Given the description of an element on the screen output the (x, y) to click on. 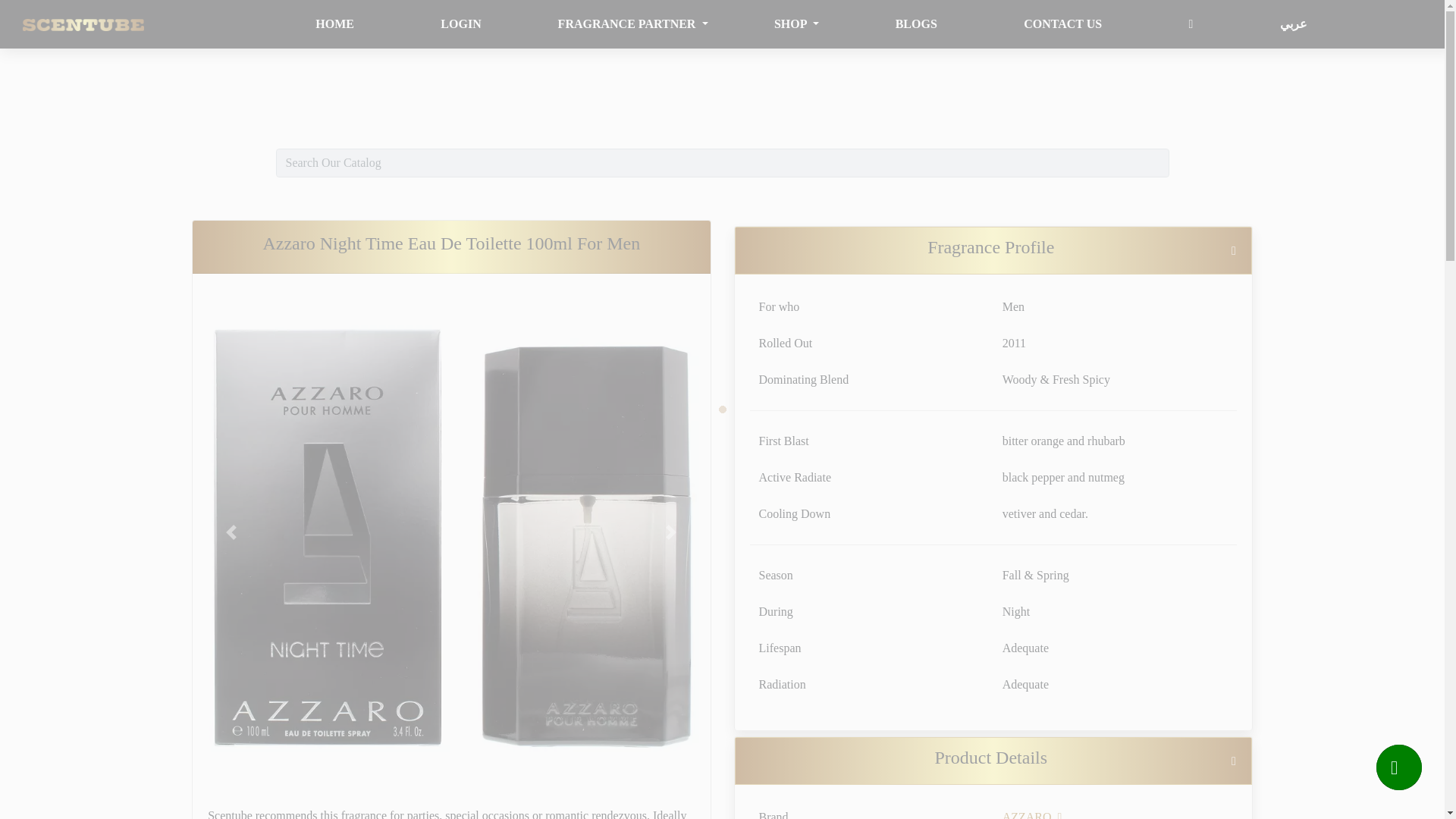
BLOGS (916, 23)
HOME (334, 23)
AZZARO (1032, 814)
SHOP (796, 24)
LOGIN (460, 23)
CONTACT US (1062, 23)
FRAGRANCE PARTNER (632, 24)
